Given the description of an element on the screen output the (x, y) to click on. 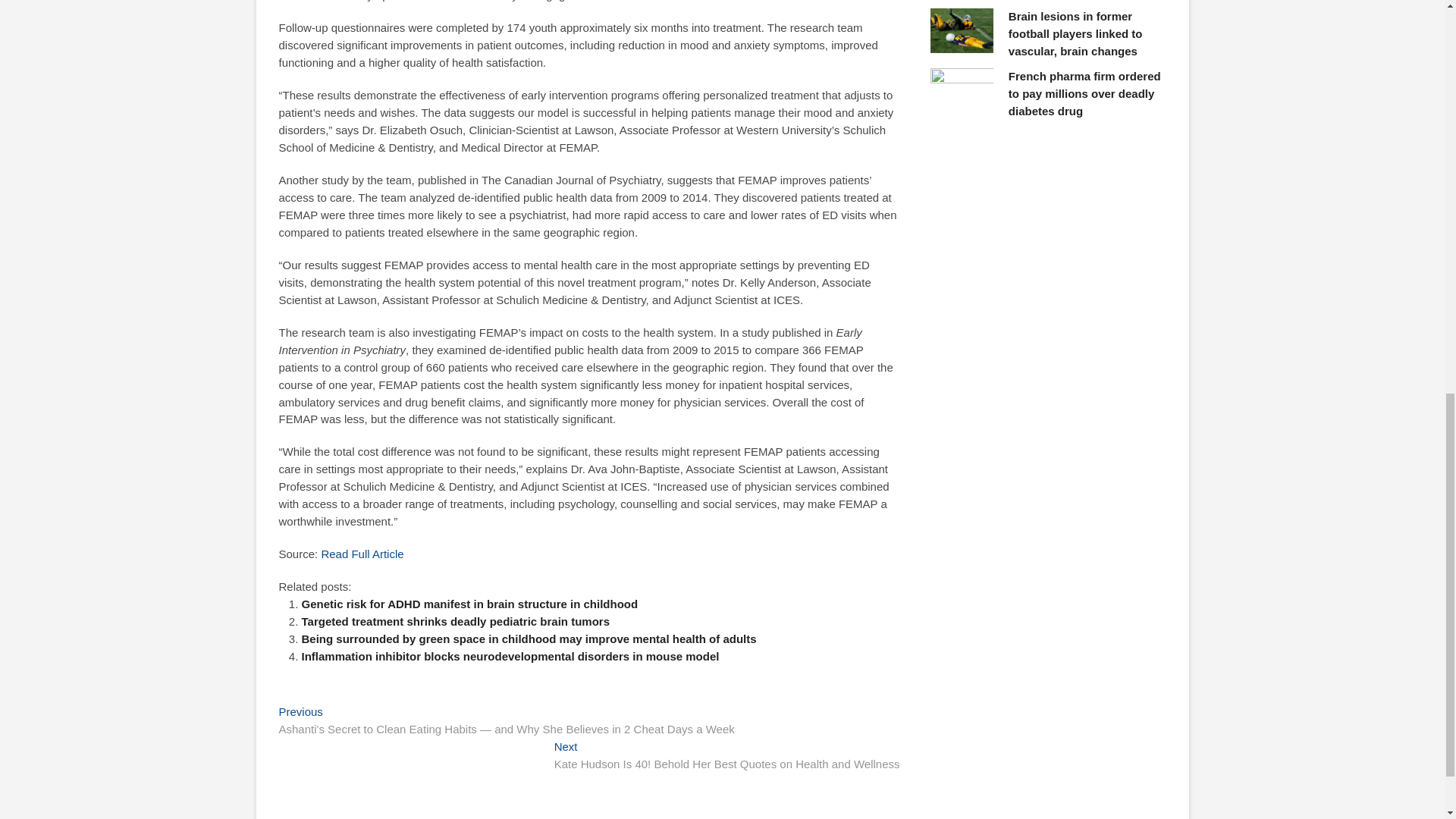
Targeted treatment shrinks deadly pediatric brain tumors (455, 621)
Targeted treatment shrinks deadly pediatric brain tumors (455, 621)
Read Full Article (361, 553)
